Given the description of an element on the screen output the (x, y) to click on. 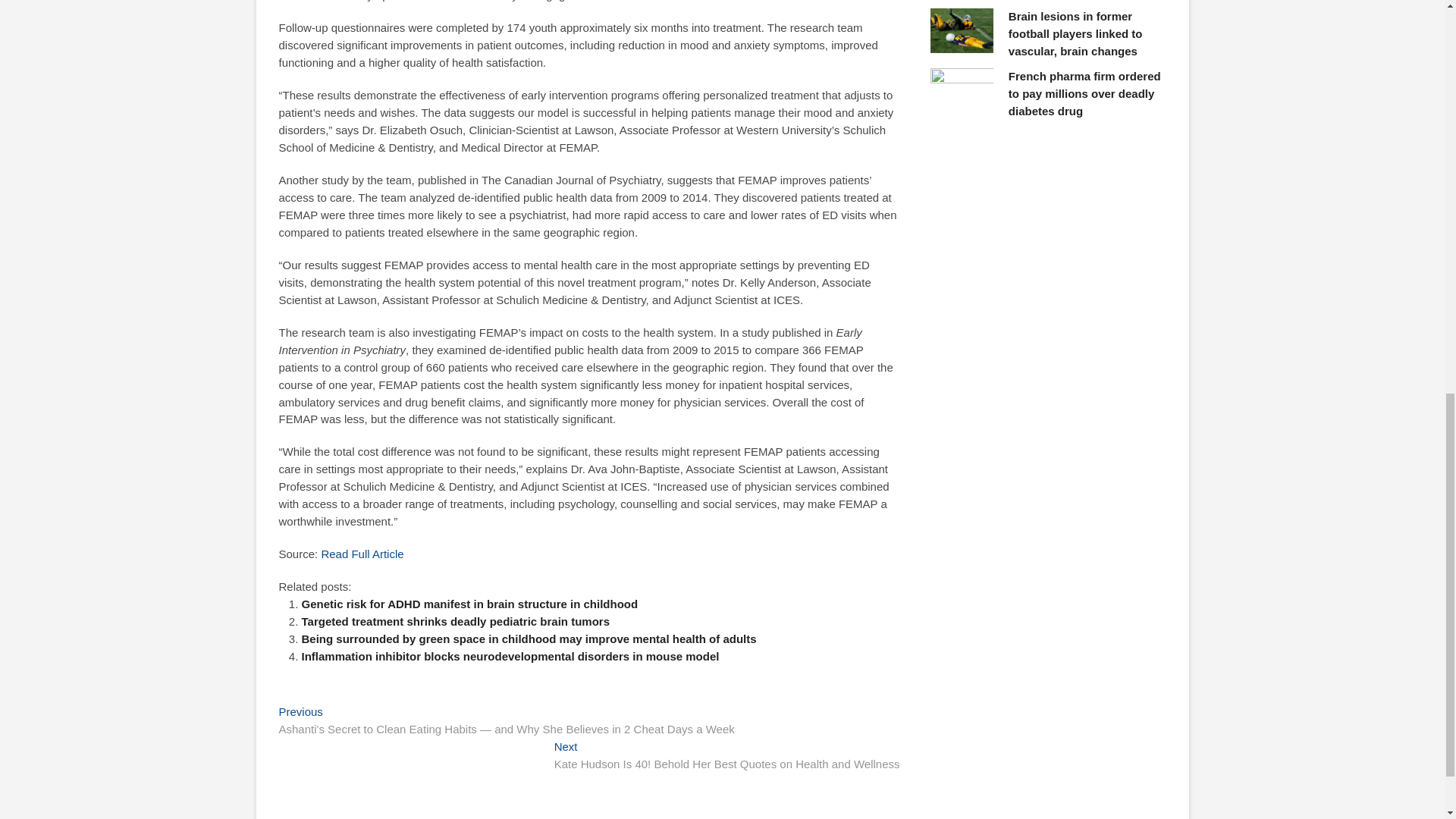
Targeted treatment shrinks deadly pediatric brain tumors (455, 621)
Targeted treatment shrinks deadly pediatric brain tumors (455, 621)
Read Full Article (361, 553)
